Given the description of an element on the screen output the (x, y) to click on. 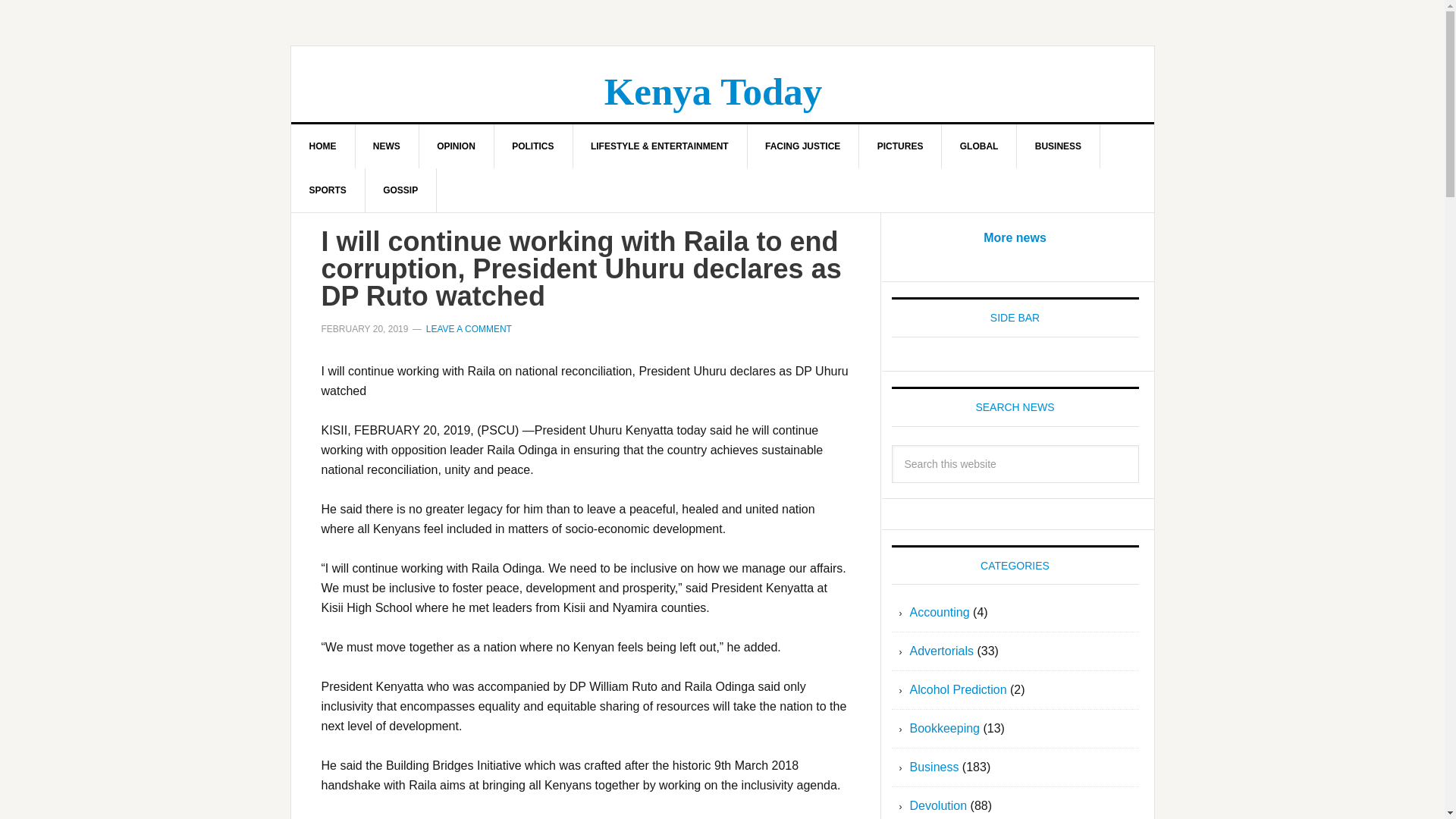
BUSINESS (1058, 146)
Accounting (939, 612)
Alcohol Prediction (958, 689)
GLOBAL (979, 146)
Bookkeeping (944, 727)
OPINION (457, 146)
NEWS (387, 146)
SPORTS (328, 190)
